Given the description of an element on the screen output the (x, y) to click on. 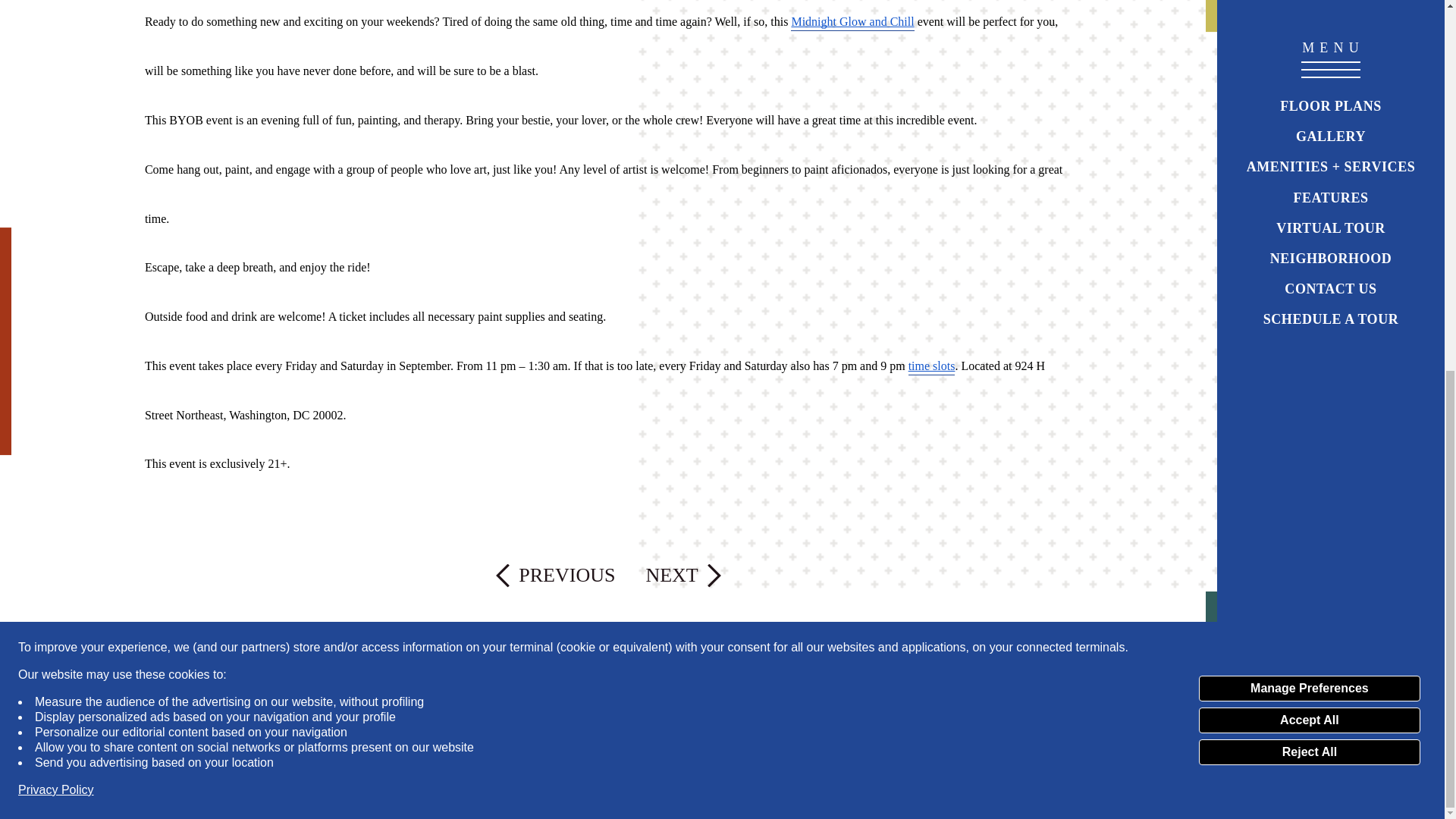
Accept All (1309, 46)
PREVIOUS (566, 574)
Manage Preferences (1309, 14)
time slots (931, 363)
Reject All (1309, 78)
Privacy Policy (55, 116)
Midnight Glow and Chill (852, 19)
